Given the description of an element on the screen output the (x, y) to click on. 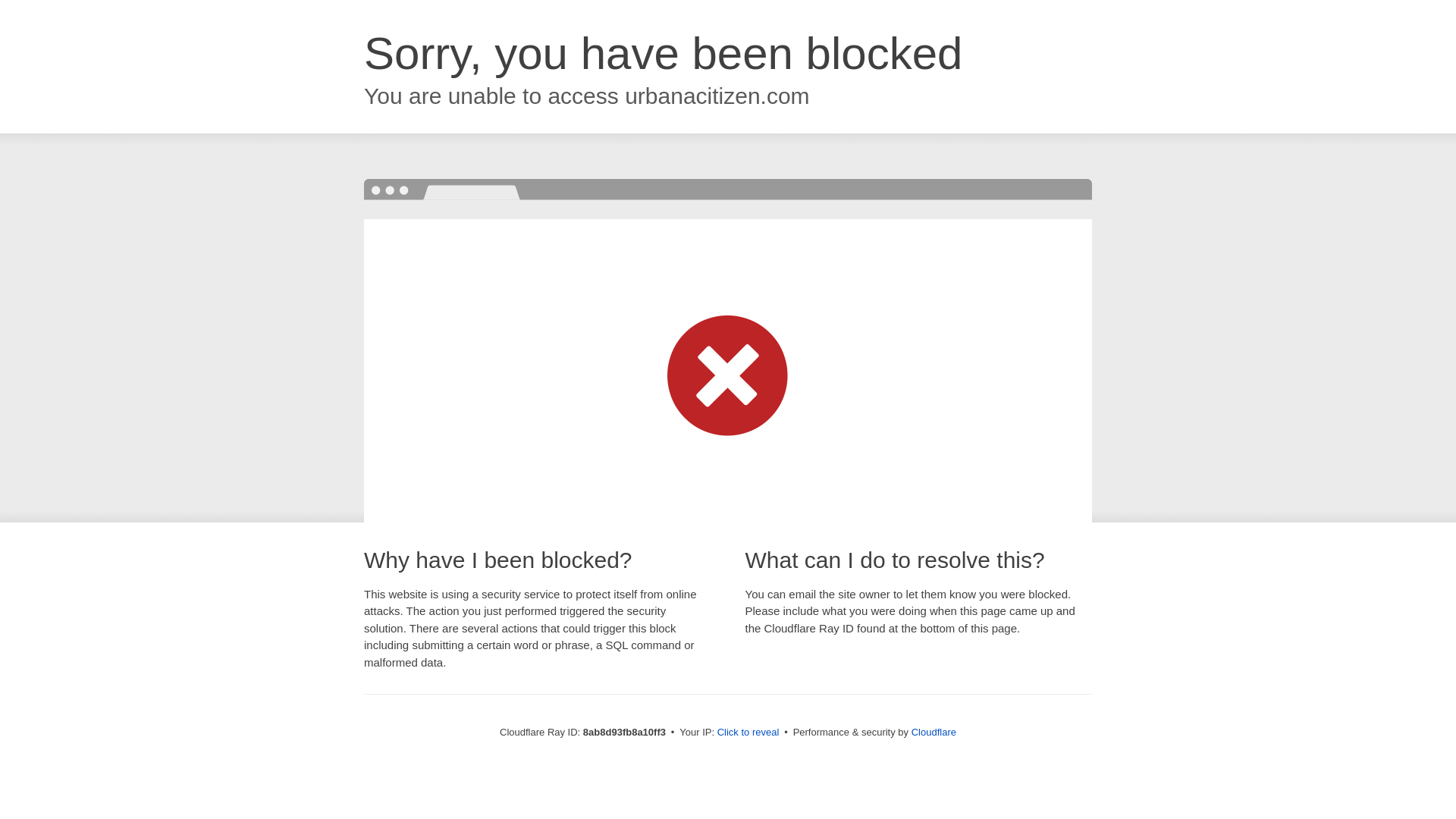
Cloudflare (933, 731)
Click to reveal (747, 732)
